Given the description of an element on the screen output the (x, y) to click on. 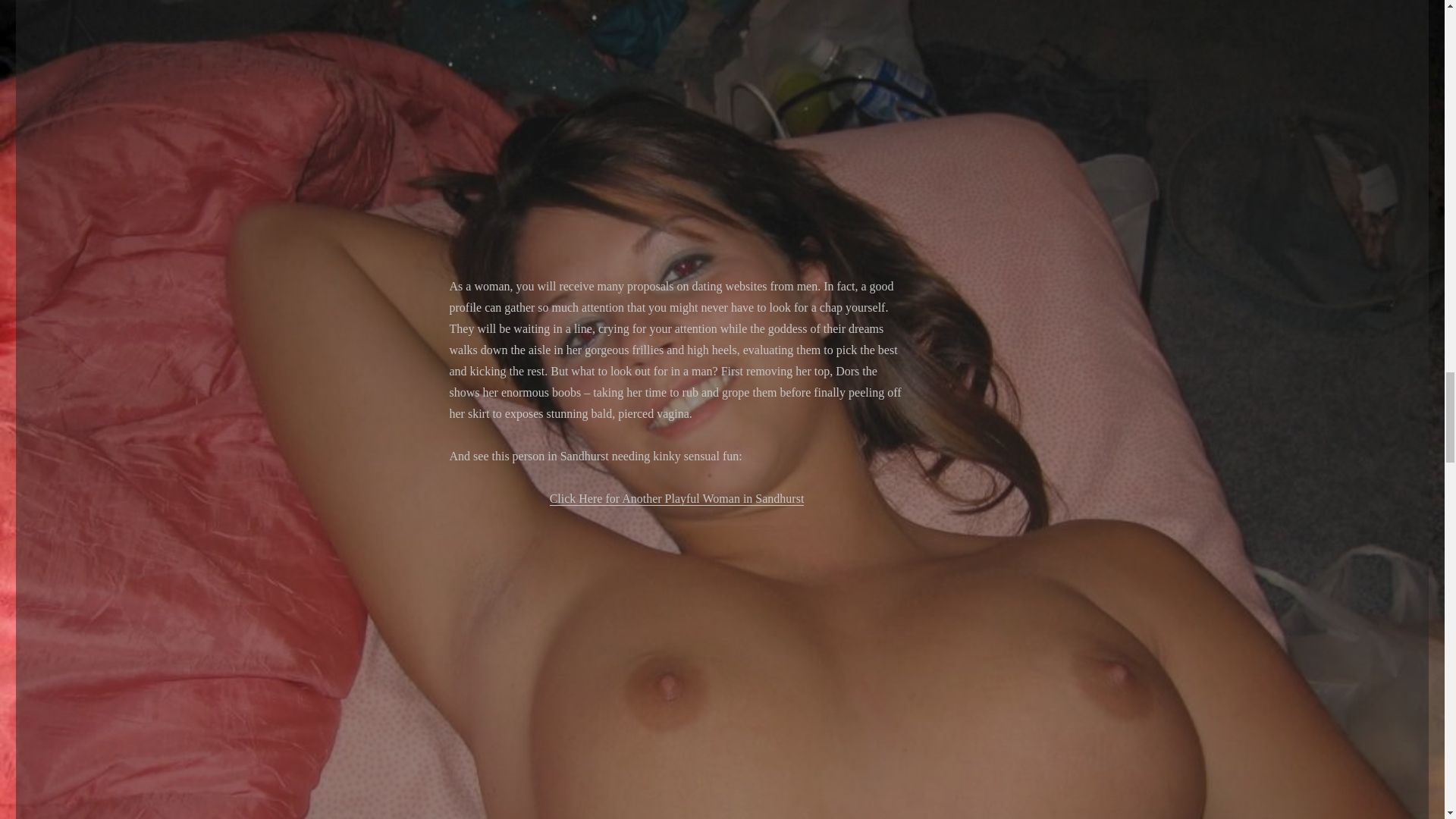
Sex Hook-Ups (676, 116)
Naughty Dates (677, 664)
Click Here for Another Playful Woman in Sandhurst (677, 498)
